Given the description of an element on the screen output the (x, y) to click on. 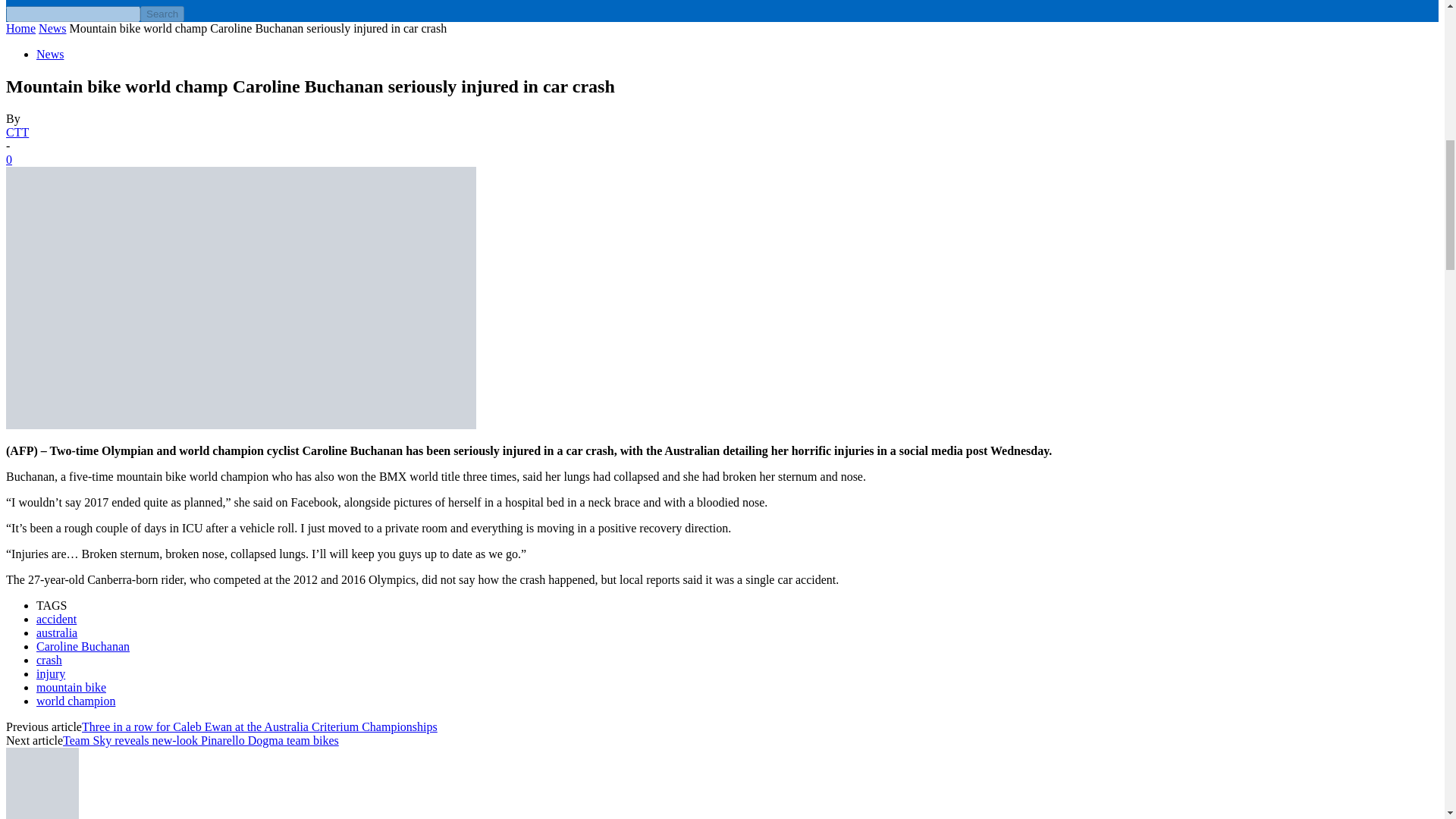
Search (161, 13)
News (50, 53)
Caroline Buchanan (240, 298)
crash (49, 659)
Search (161, 13)
View all posts in News (52, 28)
Home (19, 28)
News (52, 28)
accident (56, 618)
Caroline Buchanan (82, 645)
australia (56, 632)
CTT (17, 132)
